Given the description of an element on the screen output the (x, y) to click on. 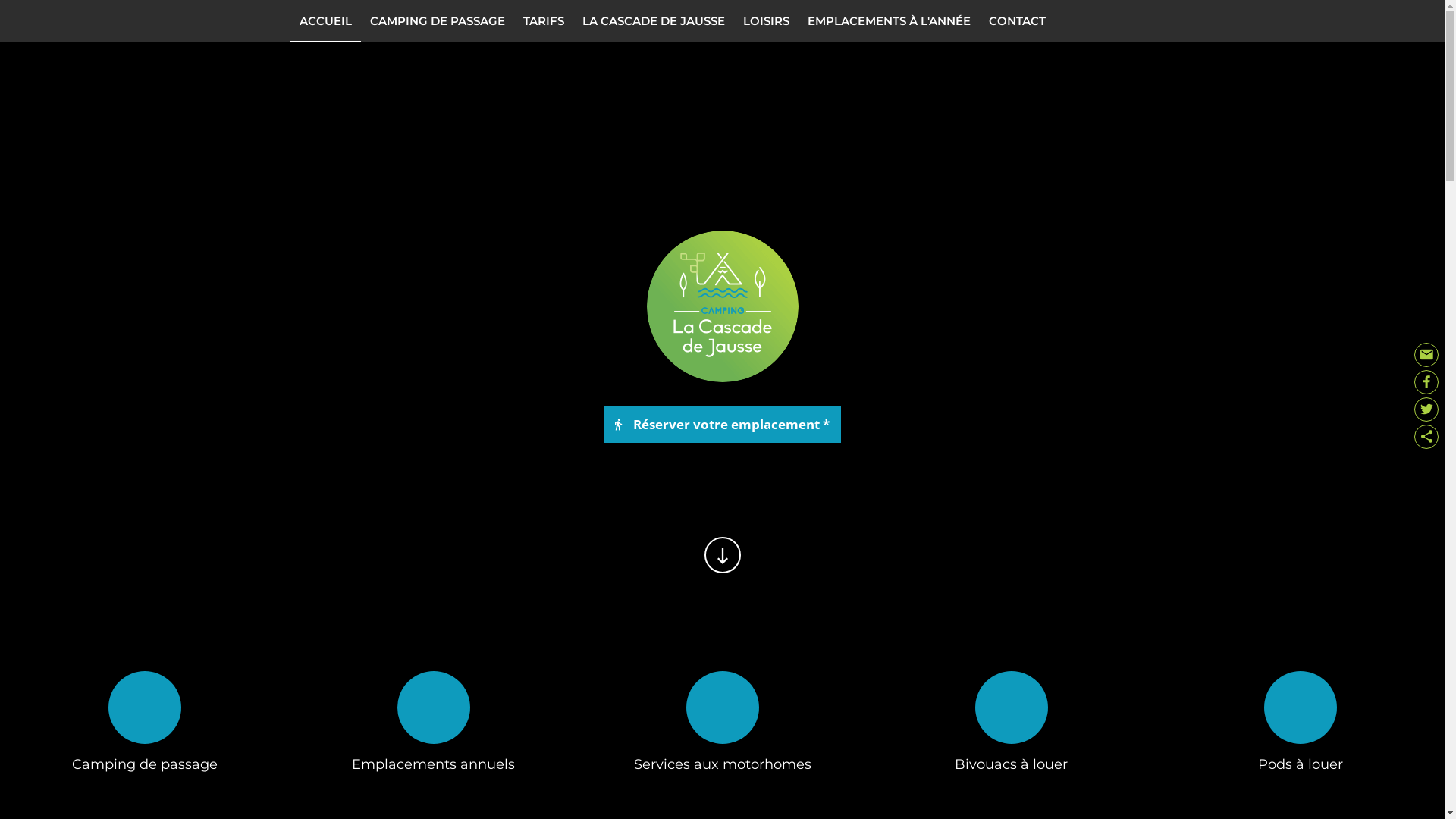
ACCUEIL Element type: text (324, 21)
TARIFS Element type: text (543, 21)
Camping Cascade de Jausse Element type: hover (721, 306)
CONTACT Element type: text (1016, 21)
LA CASCADE DE JAUSSE Element type: text (653, 21)
Partager ce contenu Element type: text (1426, 436)
LOISIRS Element type: text (766, 21)
CAMPING DE PASSAGE Element type: text (437, 21)
